Given the description of an element on the screen output the (x, y) to click on. 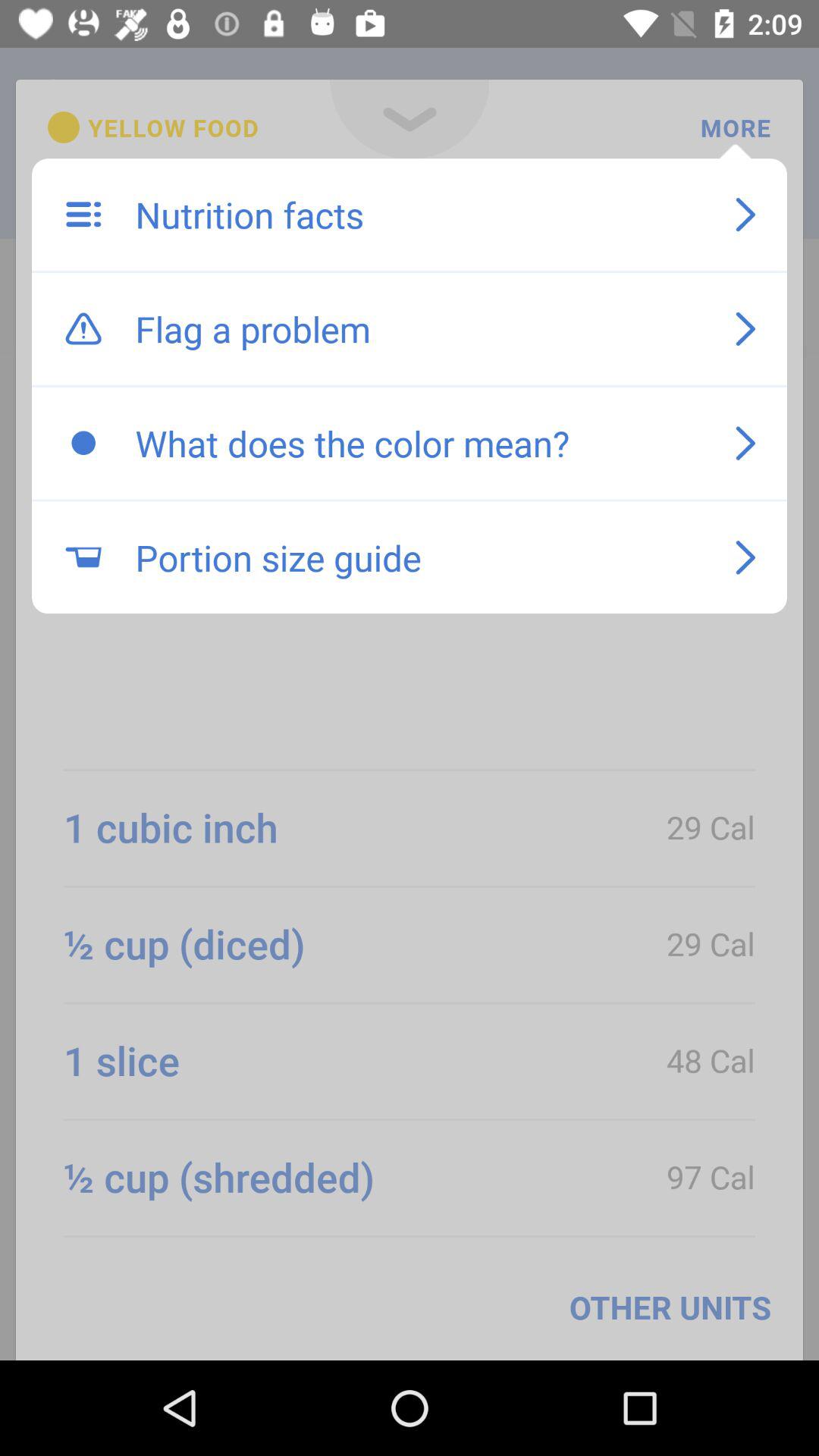
flip until what does the (419, 443)
